Given the description of an element on the screen output the (x, y) to click on. 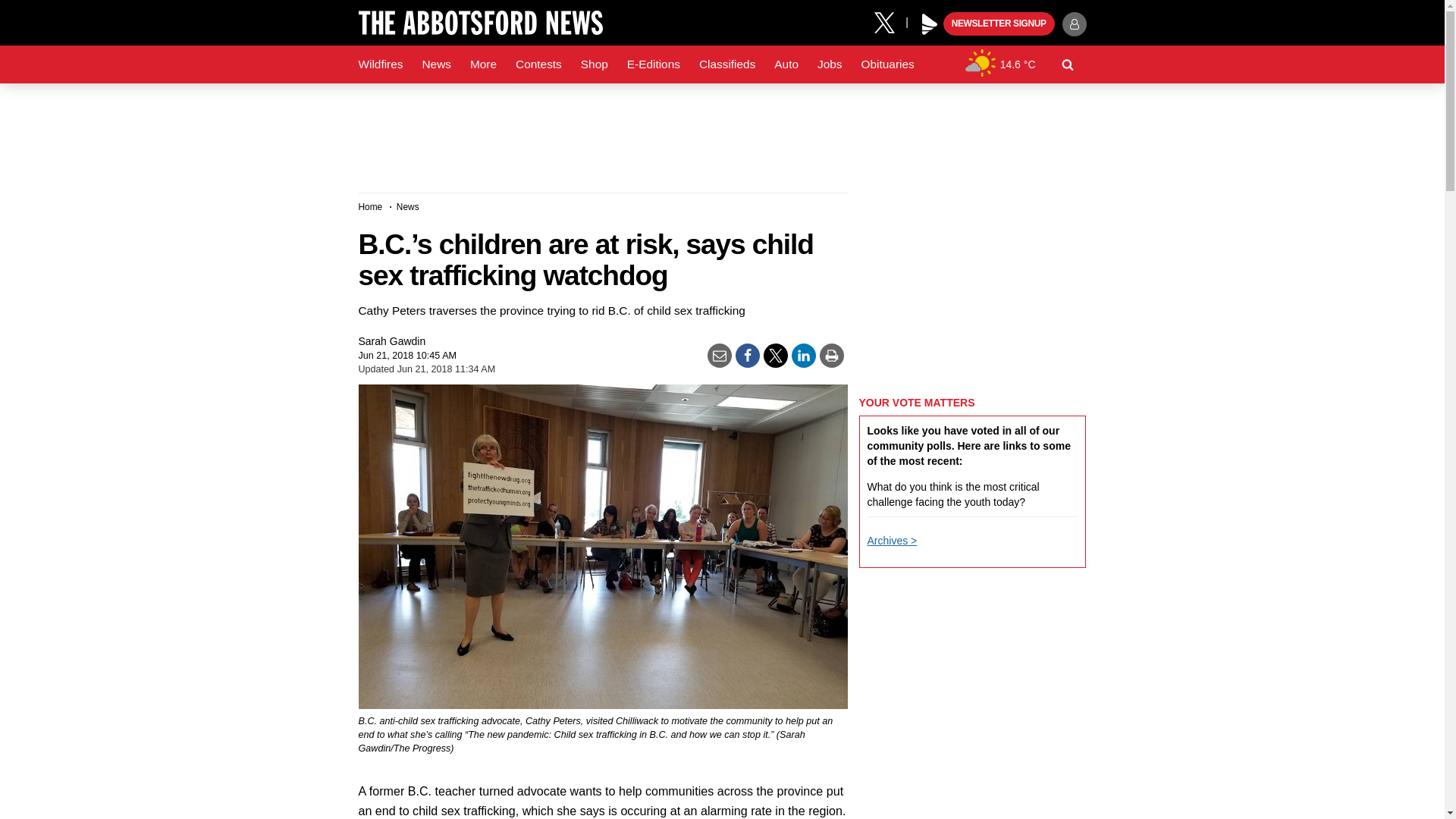
News (435, 64)
Play (929, 24)
NEWSLETTER SIGNUP (998, 24)
X (889, 21)
Black Press Media (929, 24)
Wildfires (380, 64)
